Given the description of an element on the screen output the (x, y) to click on. 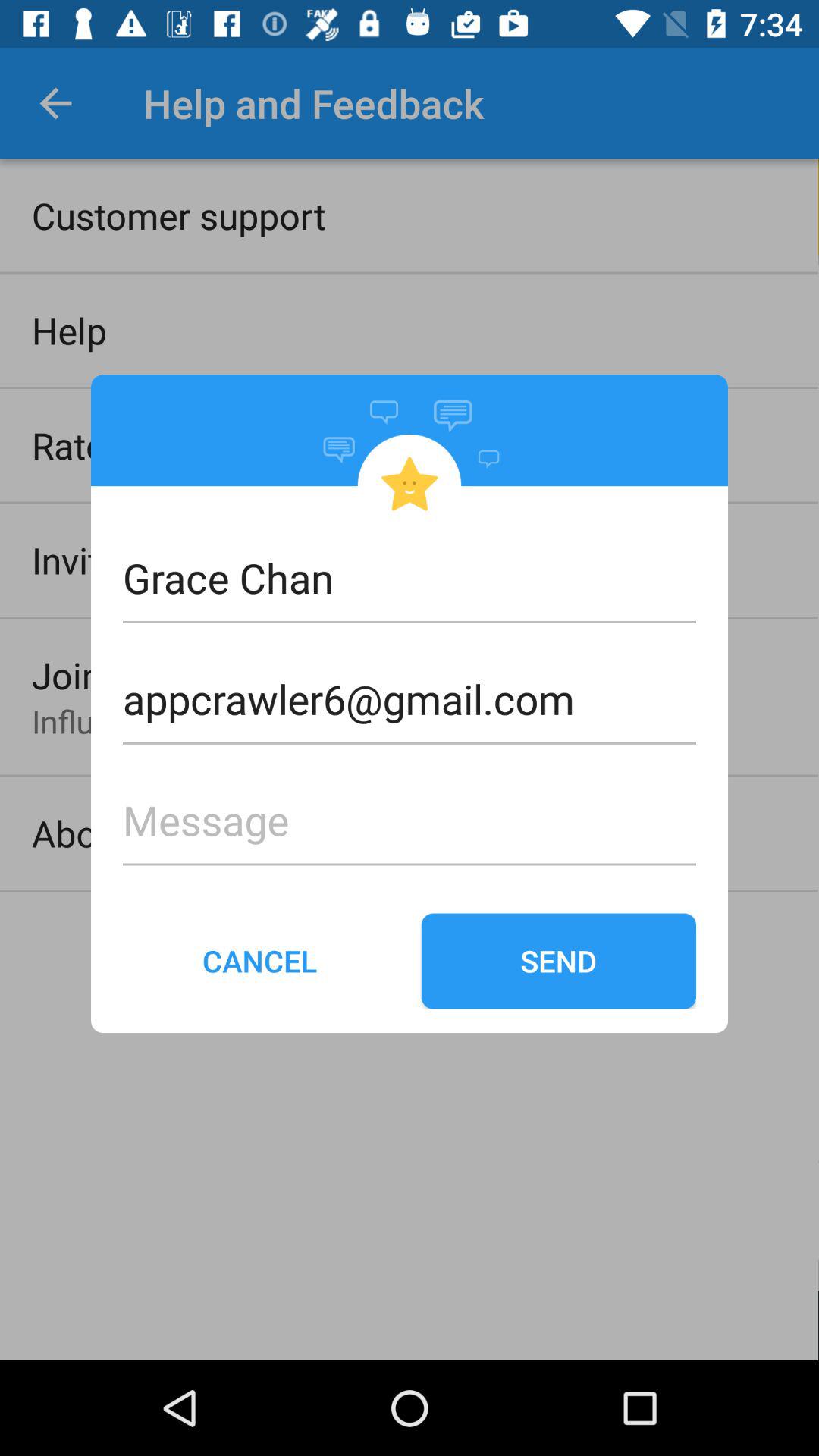
swipe to the message item (409, 795)
